Given the description of an element on the screen output the (x, y) to click on. 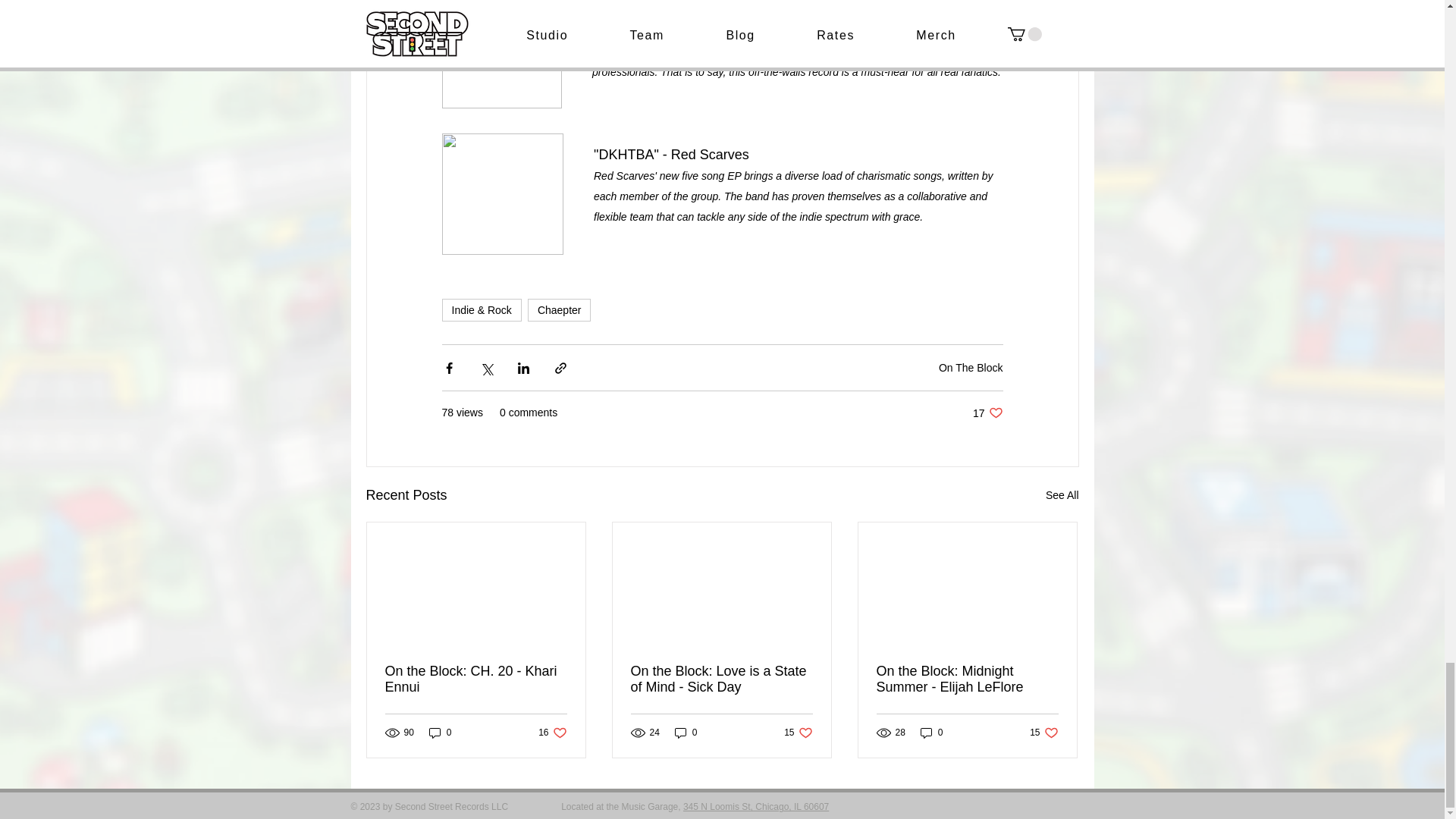
On the Block: Midnight Summer - Elijah LeFlore (967, 679)
On the Block: Love is a State of Mind - Sick Day (721, 679)
0 (440, 732)
0 (987, 412)
On The Block (685, 732)
See All (552, 732)
On the Block: CH. 20 - Khari Ennui (971, 367)
